Given the description of an element on the screen output the (x, y) to click on. 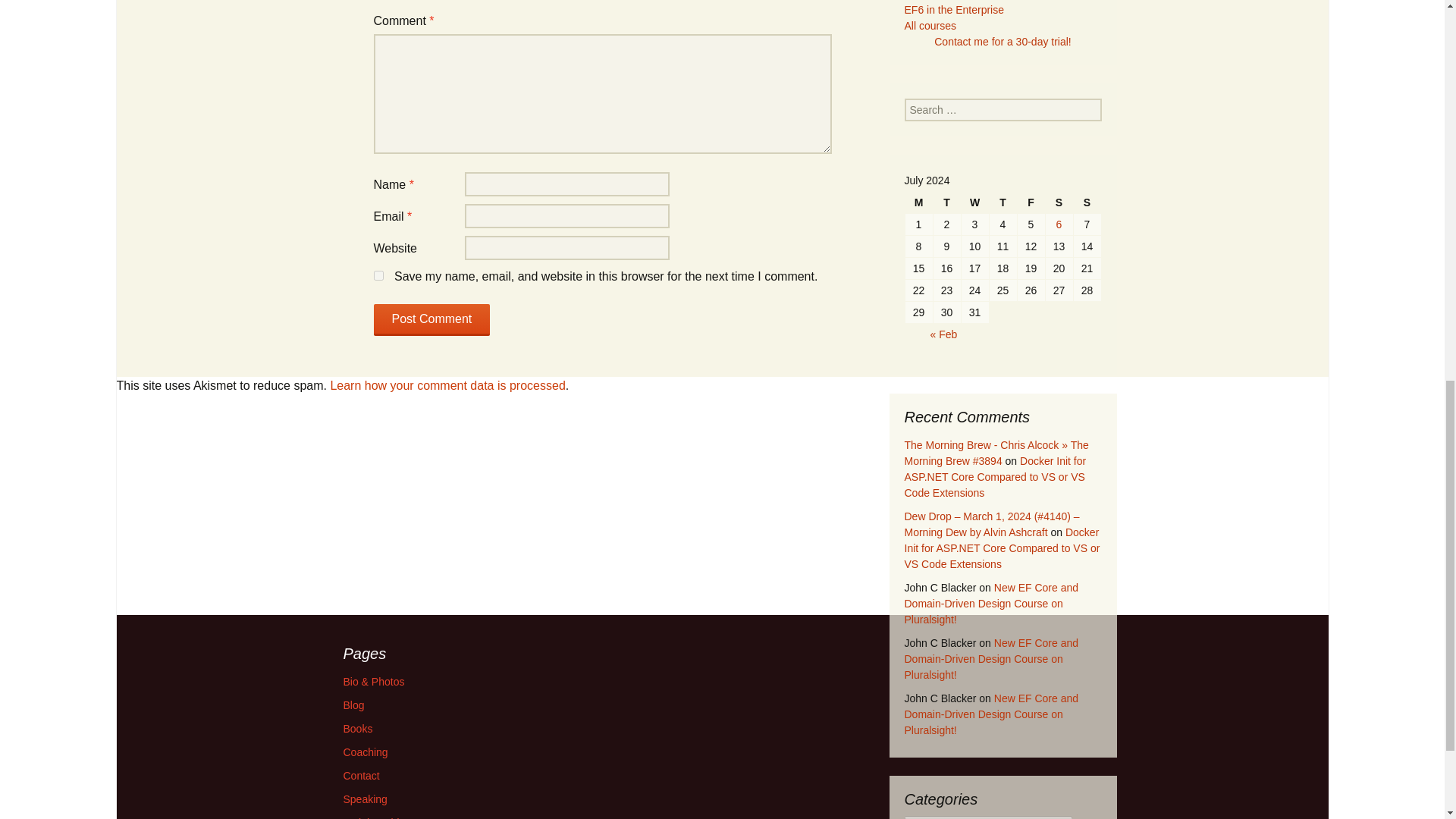
Learn how your comment data is processed (447, 385)
Sunday (1087, 201)
Post Comment (430, 319)
Wednesday (974, 201)
Thursday (1002, 201)
Post Comment (430, 319)
Friday (1031, 201)
Monday (919, 201)
yes (377, 275)
Tuesday (946, 201)
Saturday (1058, 201)
